Given the description of an element on the screen output the (x, y) to click on. 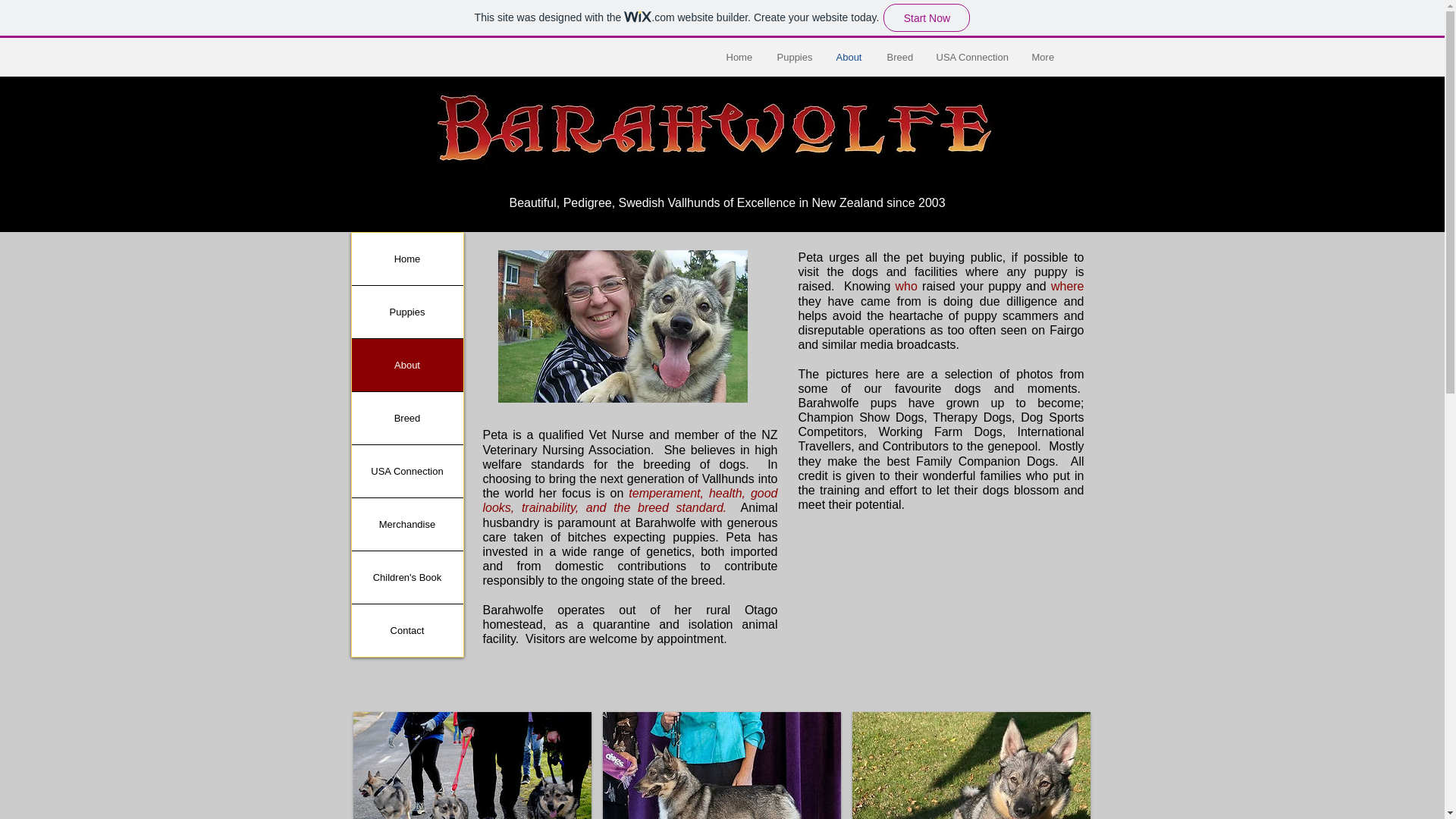
Breed (407, 418)
Breed (899, 57)
Puppies (795, 57)
About (407, 365)
Children's Book (407, 577)
Puppies (407, 311)
USA Connection (972, 57)
Merchandise (407, 523)
USA Connection (407, 471)
Contact (407, 630)
About (850, 57)
Home (407, 258)
Home (739, 57)
